Given the description of an element on the screen output the (x, y) to click on. 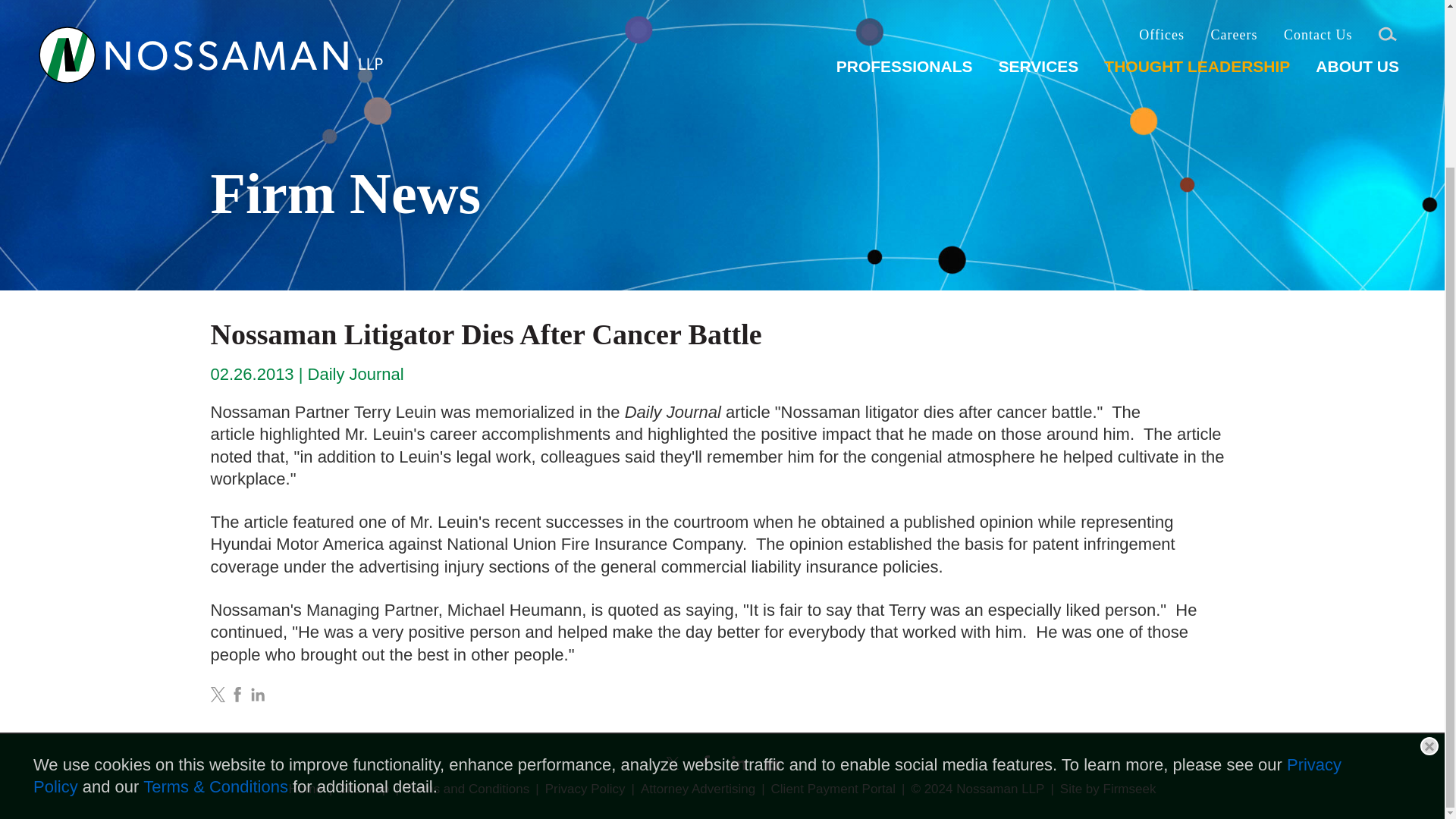
Share on Twitter (218, 694)
Share on Facebook (237, 694)
Share on LinkedIn (257, 694)
